Given the description of an element on the screen output the (x, y) to click on. 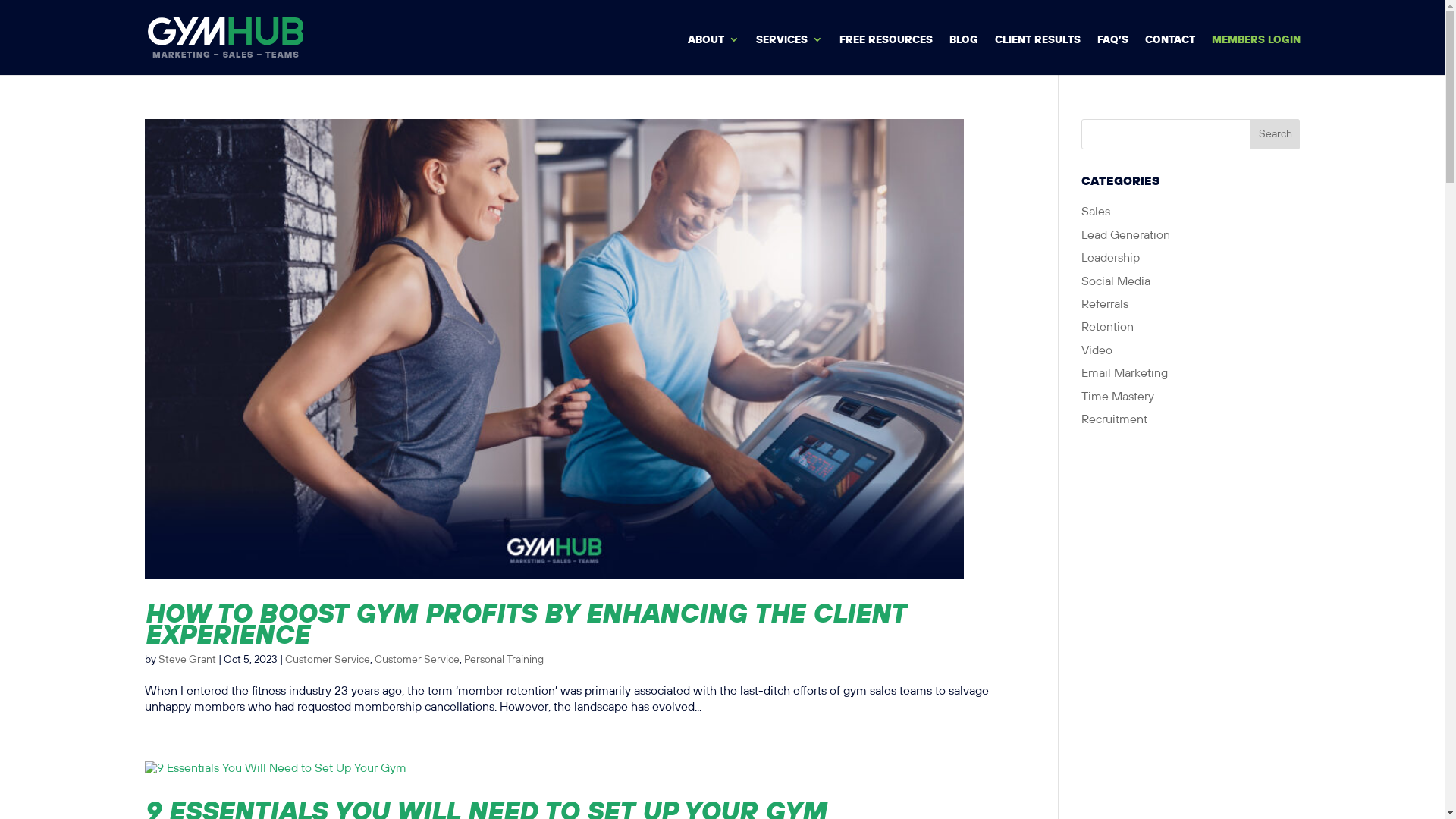
ABOUT Element type: text (712, 52)
Retention Element type: text (1107, 326)
Recruitment Element type: text (1114, 419)
Video Element type: text (1096, 350)
BLOG Element type: text (963, 52)
Leadership Element type: text (1110, 257)
SERVICES Element type: text (788, 52)
Sales Element type: text (1095, 211)
Email Marketing Element type: text (1124, 373)
Lead Generation Element type: text (1125, 235)
CONTACT Element type: text (1170, 52)
Referrals Element type: text (1104, 304)
Steve Grant Element type: text (186, 659)
Social Media Element type: text (1115, 281)
HOW TO BOOST GYM PROFITS BY ENHANCING THE CLIENT EXPERIENCE Element type: text (524, 623)
Customer Service Element type: text (416, 659)
Time Mastery Element type: text (1117, 396)
MEMBERS LOGIN Element type: text (1255, 52)
Customer Service Element type: text (327, 659)
CLIENT RESULTS Element type: text (1037, 52)
Personal Training Element type: text (503, 659)
Search Element type: text (1275, 134)
FREE RESOURCES Element type: text (884, 52)
